Given the description of an element on the screen output the (x, y) to click on. 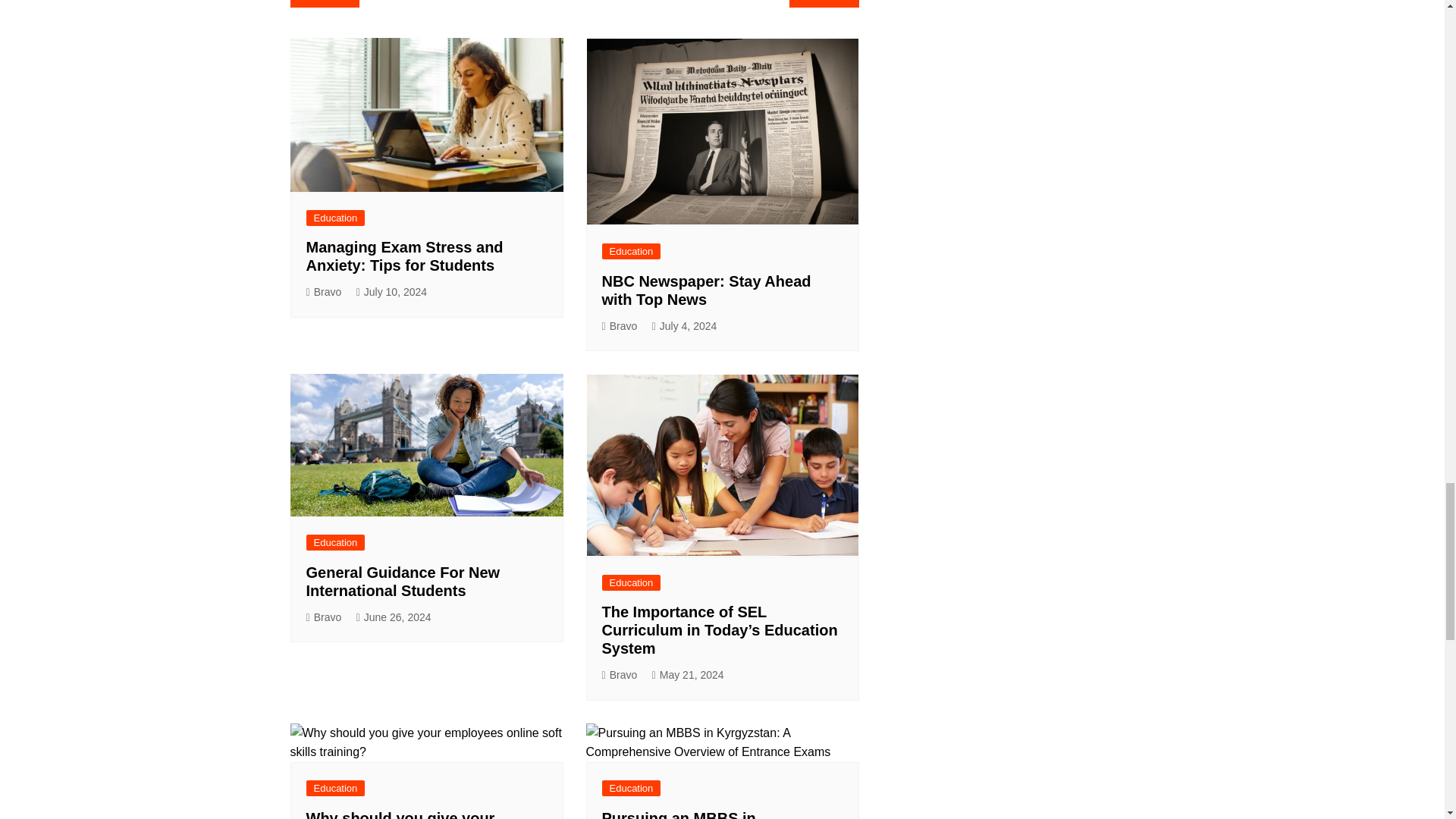
Managing Exam Stress and Anxiety: Tips for Students (404, 256)
July 10, 2024 (391, 292)
Education (631, 251)
Prev (323, 3)
Education (335, 217)
Bravo (619, 325)
Bravo (323, 292)
Next (824, 3)
July 4, 2024 (684, 325)
NBC Newspaper: Stay Ahead with Top News (706, 289)
